Given the description of an element on the screen output the (x, y) to click on. 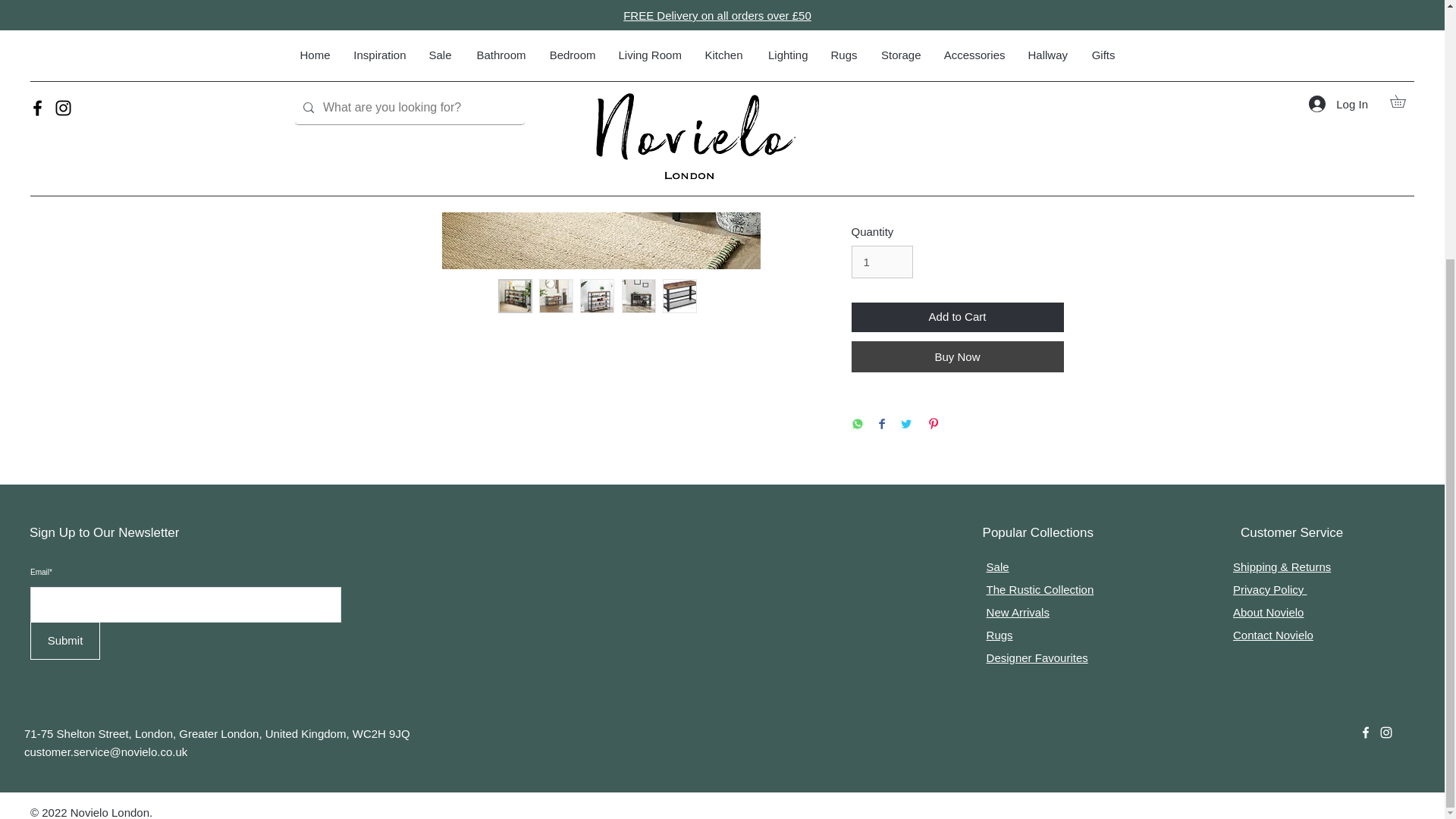
1 (881, 262)
